Given the description of an element on the screen output the (x, y) to click on. 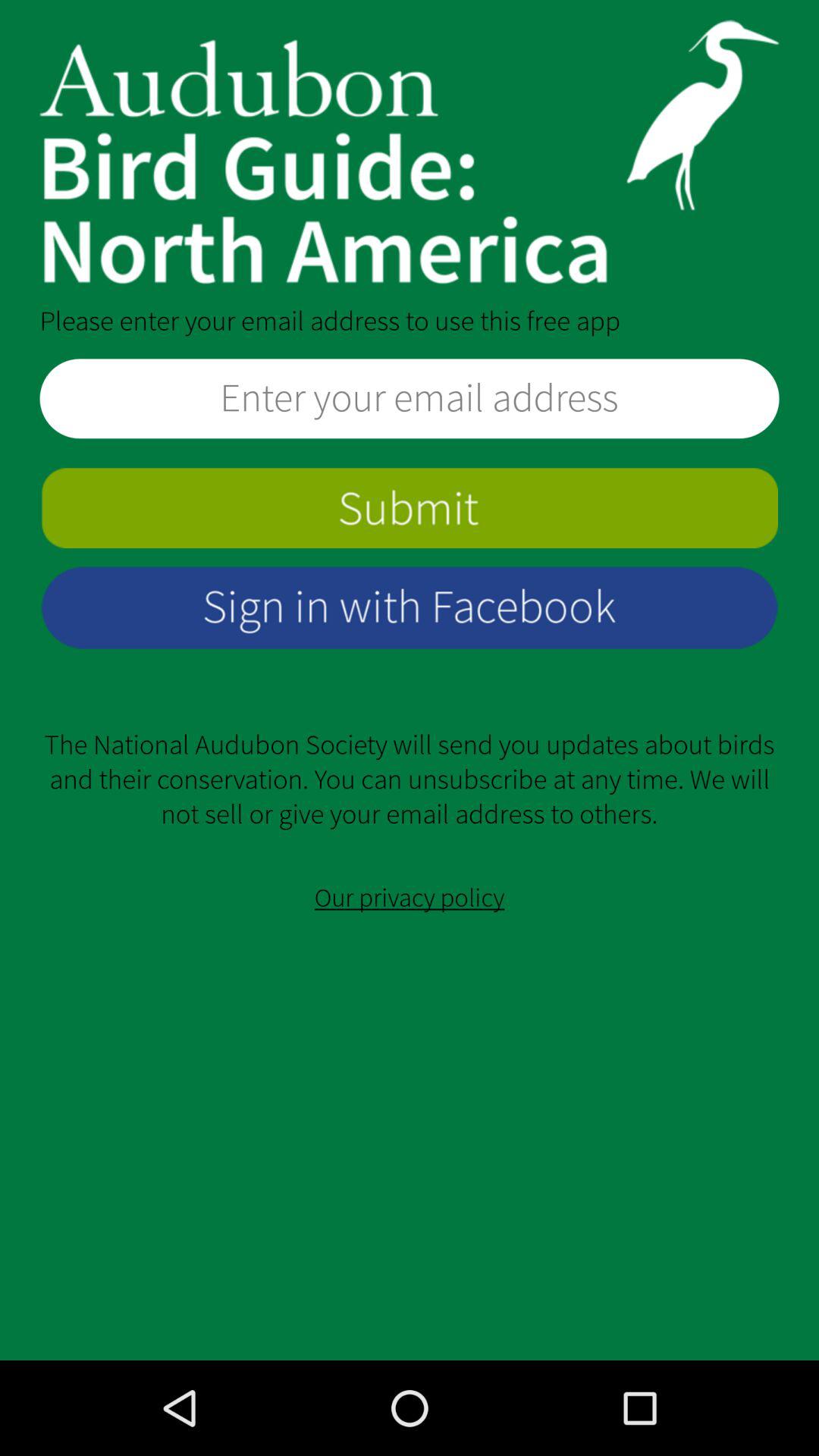
click to submit option (409, 507)
